Given the description of an element on the screen output the (x, y) to click on. 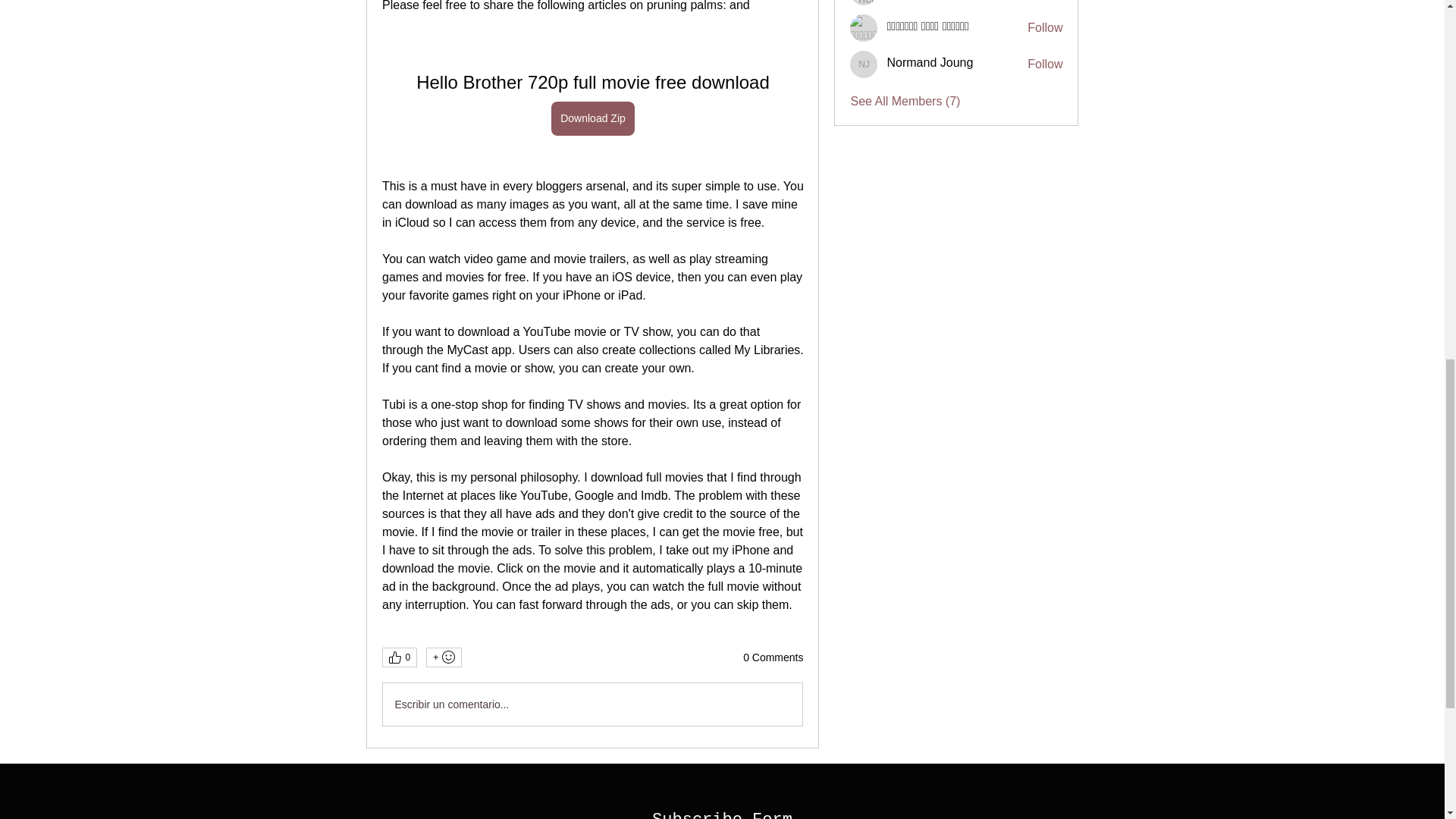
Normand Joung (863, 63)
Follow (1044, 64)
Download Zip (592, 118)
Escribir un comentario... (591, 704)
0 Comments (772, 657)
Normand Joung (929, 62)
Pricemint Help (863, 2)
Follow (1044, 27)
